Given the description of an element on the screen output the (x, y) to click on. 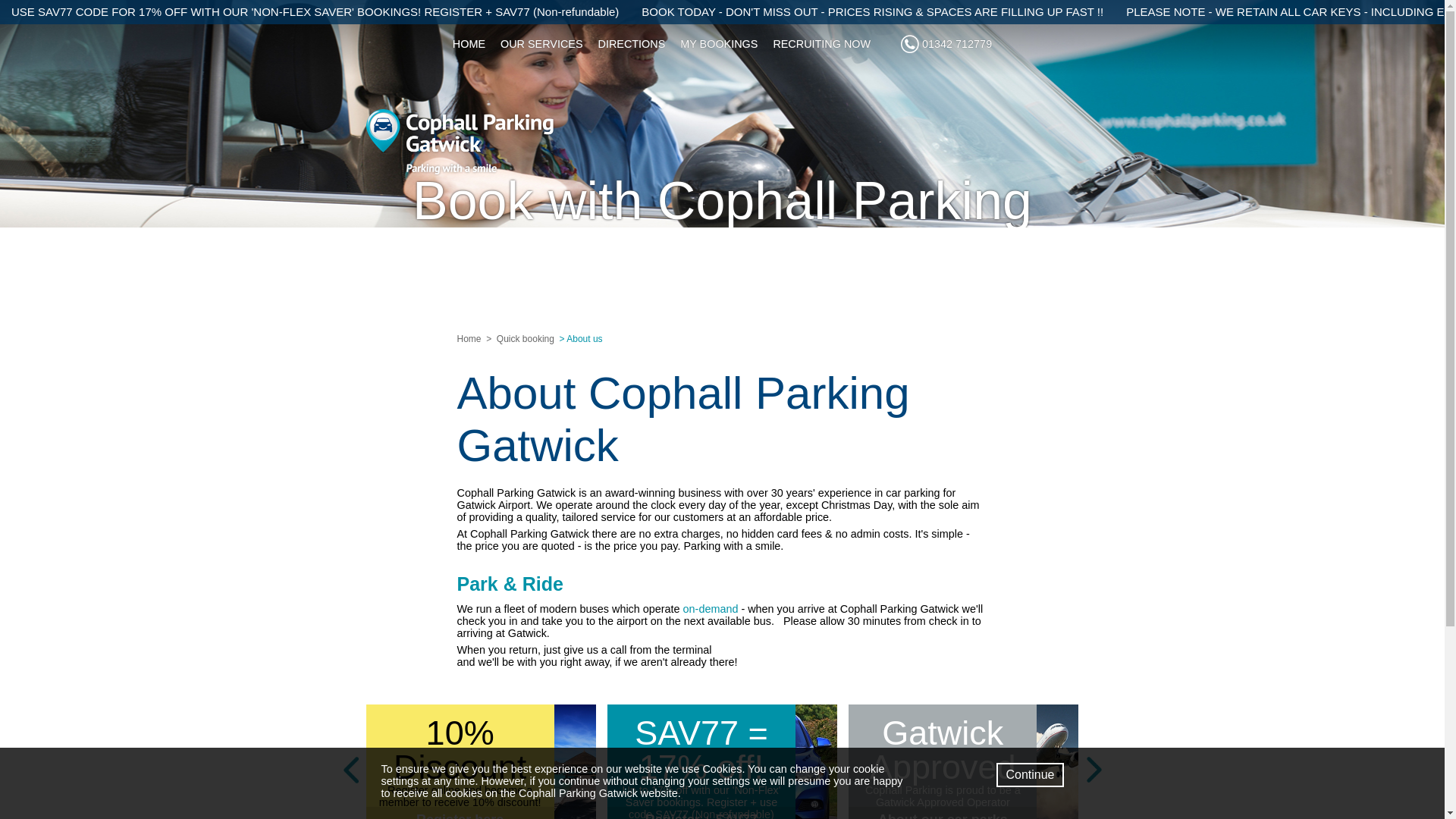
OUR SERVICES (542, 44)
01342 712779 (945, 44)
MY BOOKINGS (718, 44)
RECRUITING NOW (821, 44)
Quote me (722, 313)
HOME (469, 44)
Gatwick car parking - Park and Ride (710, 607)
DIRECTIONS (631, 44)
